Given the description of an element on the screen output the (x, y) to click on. 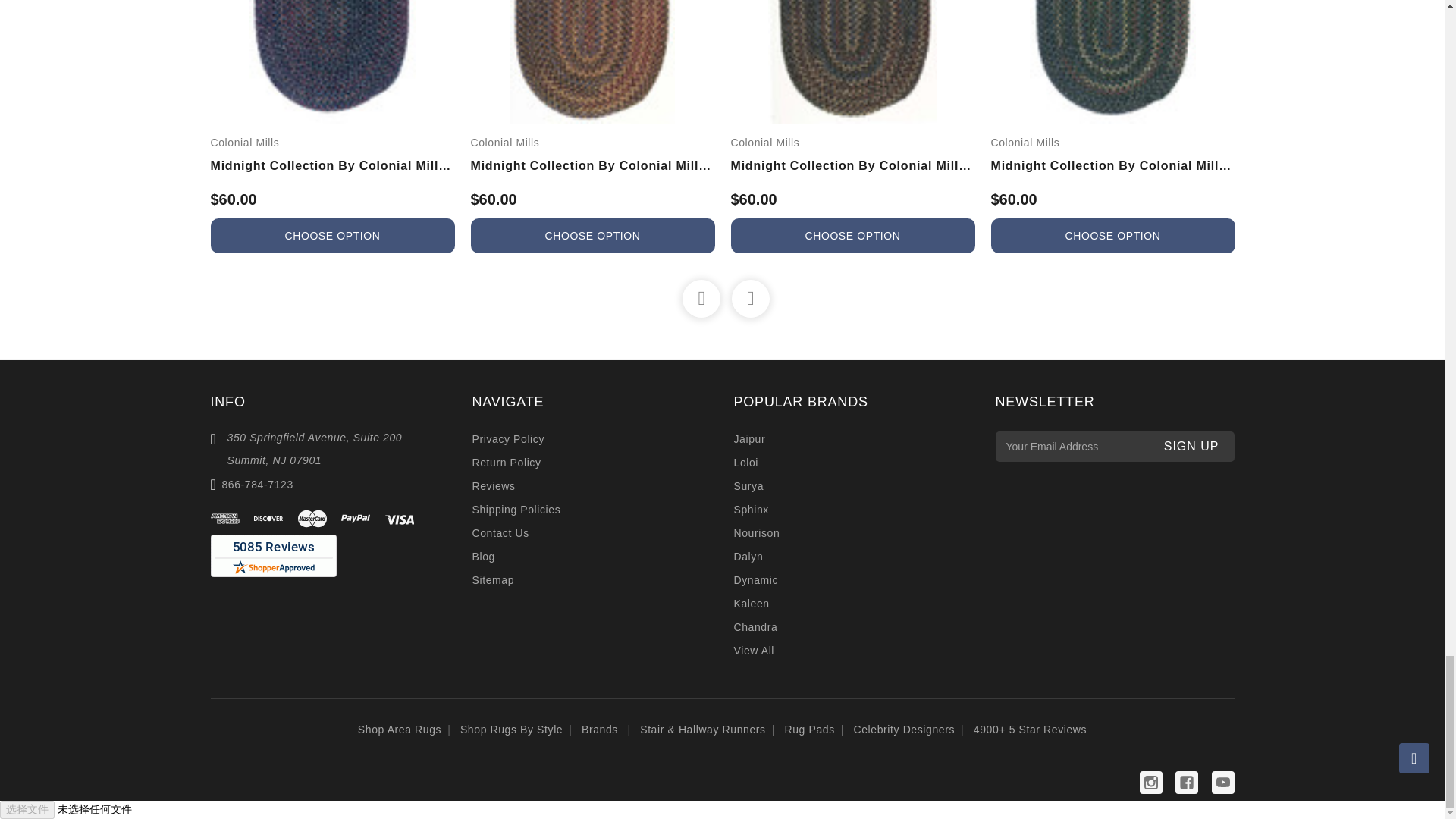
Choose Options (852, 235)
Choose Options (332, 235)
Choose Options (592, 235)
Facebook (1186, 782)
Instagram (1150, 782)
Choose Options (1112, 235)
